Given the description of an element on the screen output the (x, y) to click on. 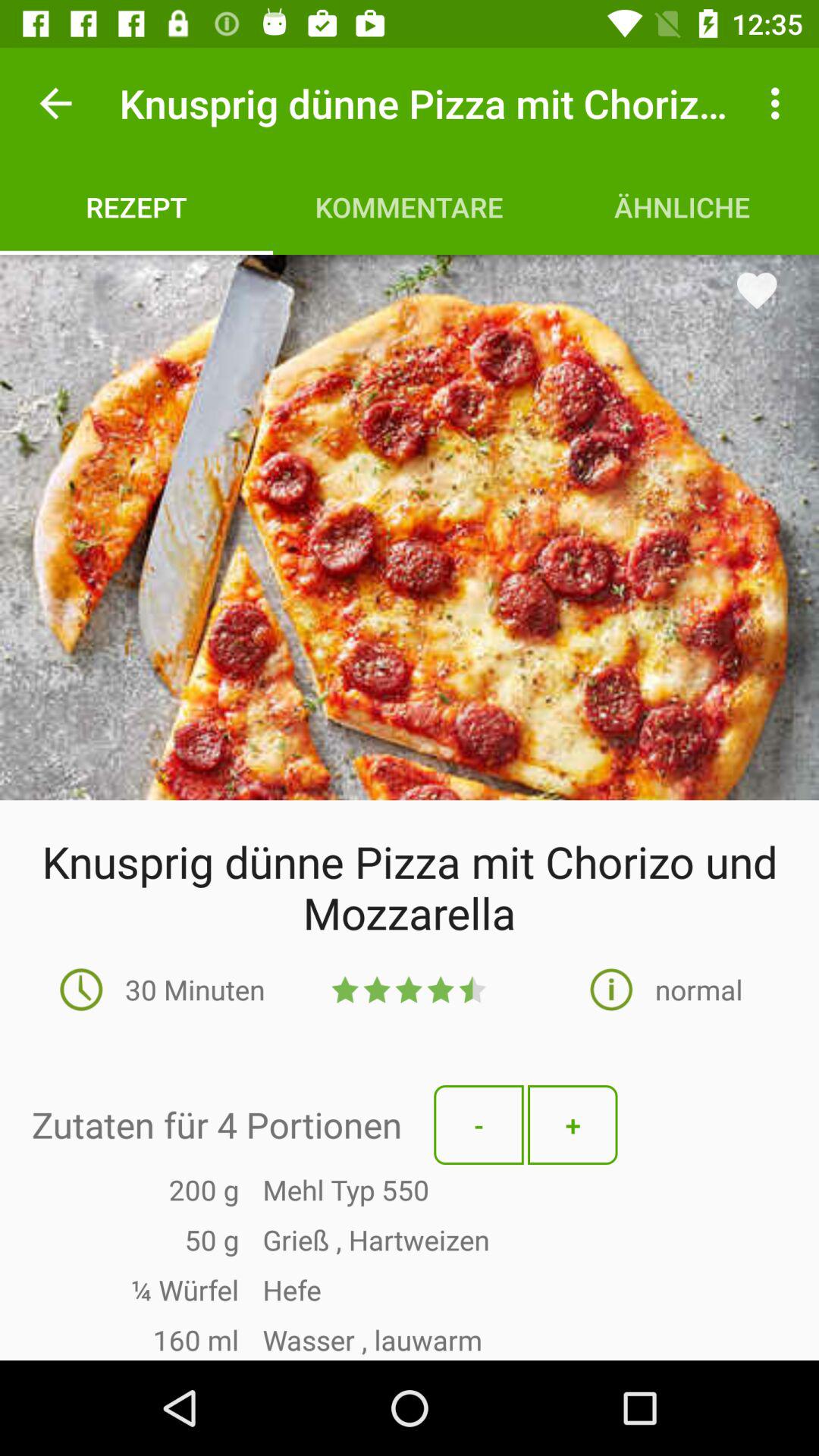
turn off the item to the right of - (572, 1124)
